Given the description of an element on the screen output the (x, y) to click on. 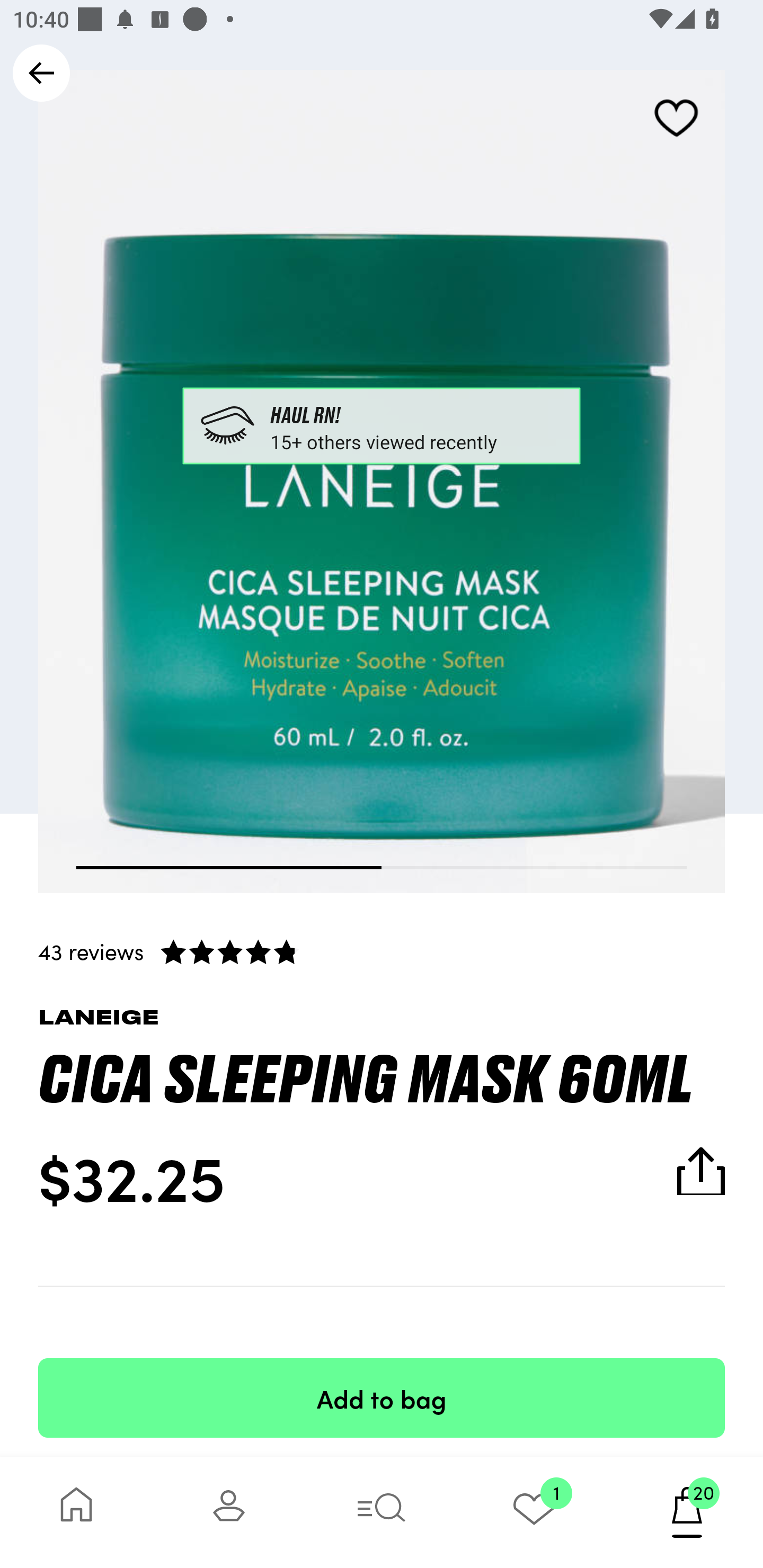
43 reviews (381, 950)
Add to bag (381, 1397)
1 (533, 1512)
20 (686, 1512)
